Given the description of an element on the screen output the (x, y) to click on. 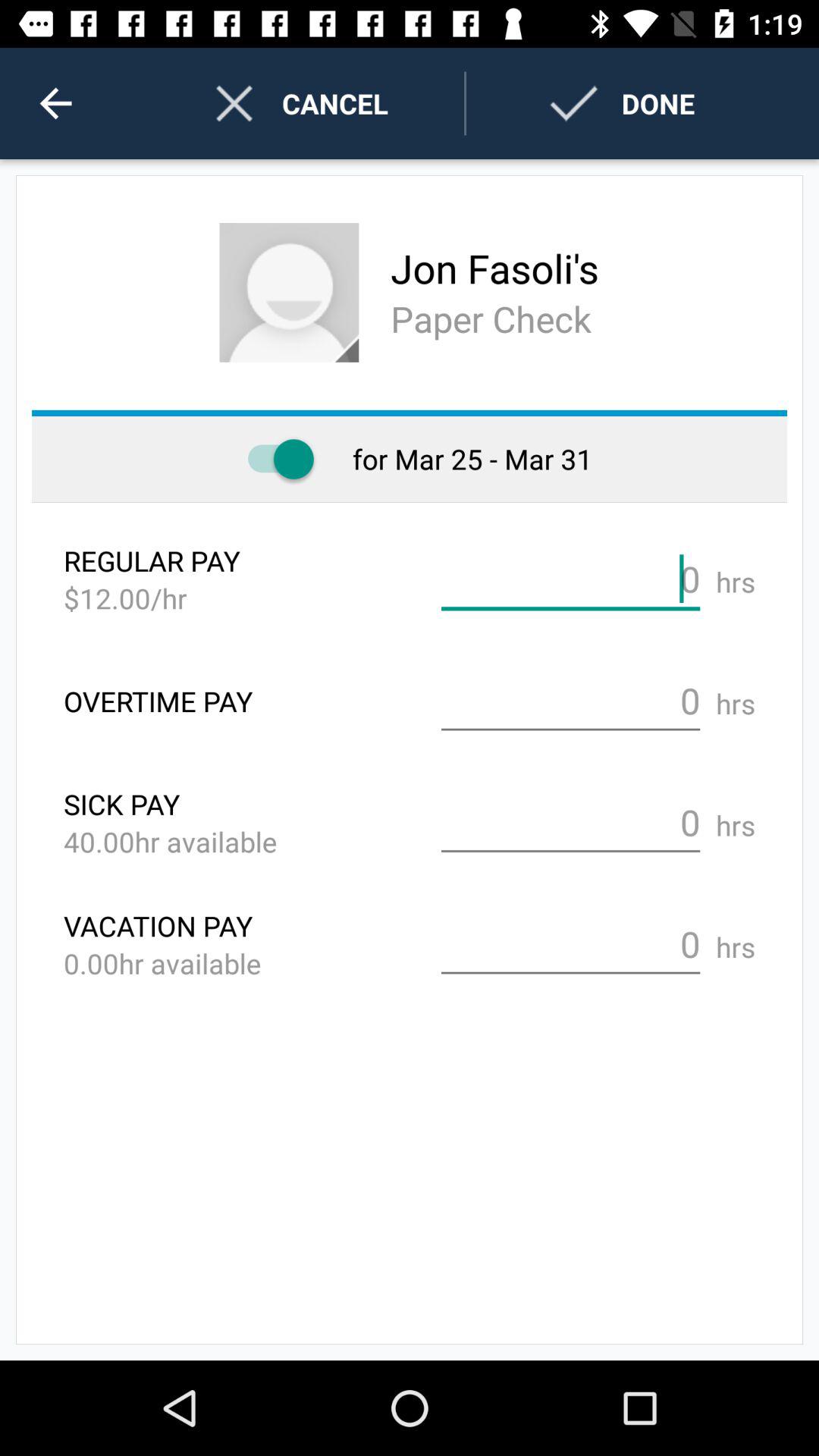
change profile picture (288, 292)
